Given the description of an element on the screen output the (x, y) to click on. 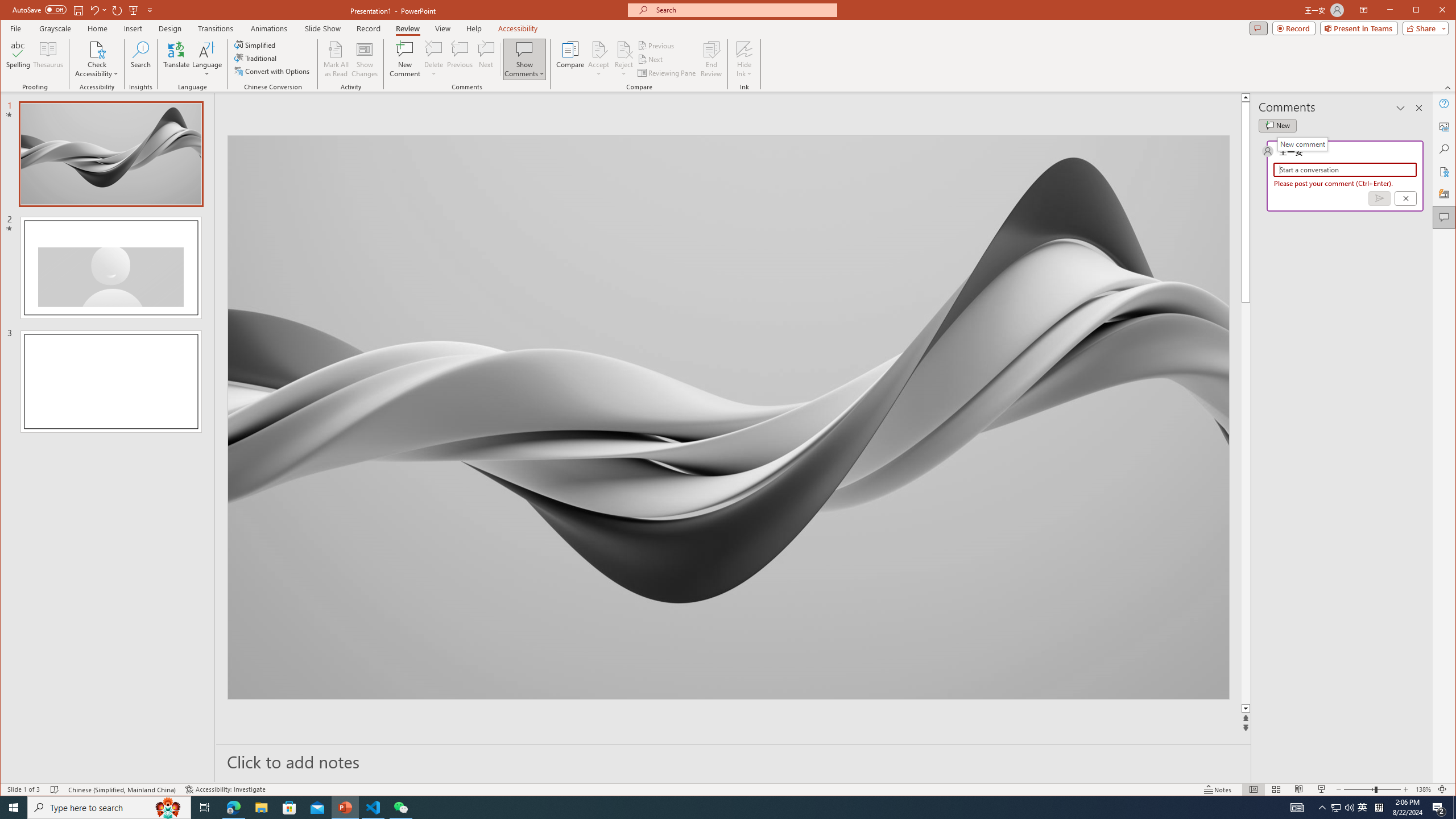
Show Comments (524, 59)
Post comment (Ctrl + Enter) (1379, 197)
Zoom to Fit  (1441, 789)
Insert (133, 28)
Show Comments (524, 48)
Zoom In (1405, 789)
New comment (1277, 125)
Reviewing Pane (667, 72)
Hide Ink (744, 48)
Translate (175, 59)
Check Accessibility (96, 59)
Slide (110, 381)
Slide Notes (733, 761)
Delete (433, 48)
Simplified (255, 44)
